Given the description of an element on the screen output the (x, y) to click on. 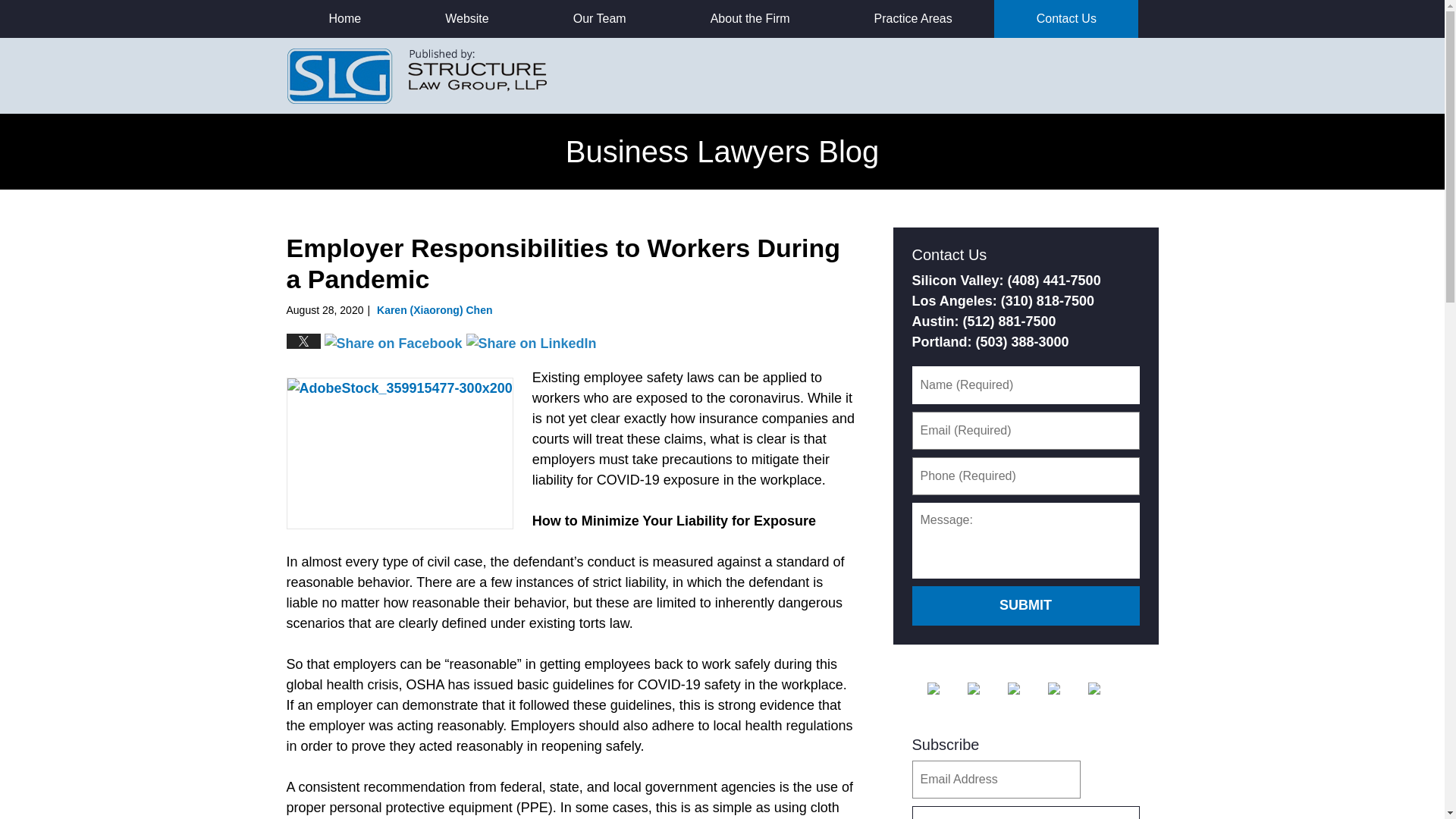
Facebook (944, 688)
Our Team (599, 18)
Website (467, 18)
Business Lawyers Blog (416, 75)
Contact Us (1066, 18)
Home (344, 18)
Twitter (986, 688)
Please enter a valid phone number. (1024, 476)
Structure Law Group, LLP (1040, 75)
Feed (1105, 688)
